Given the description of an element on the screen output the (x, y) to click on. 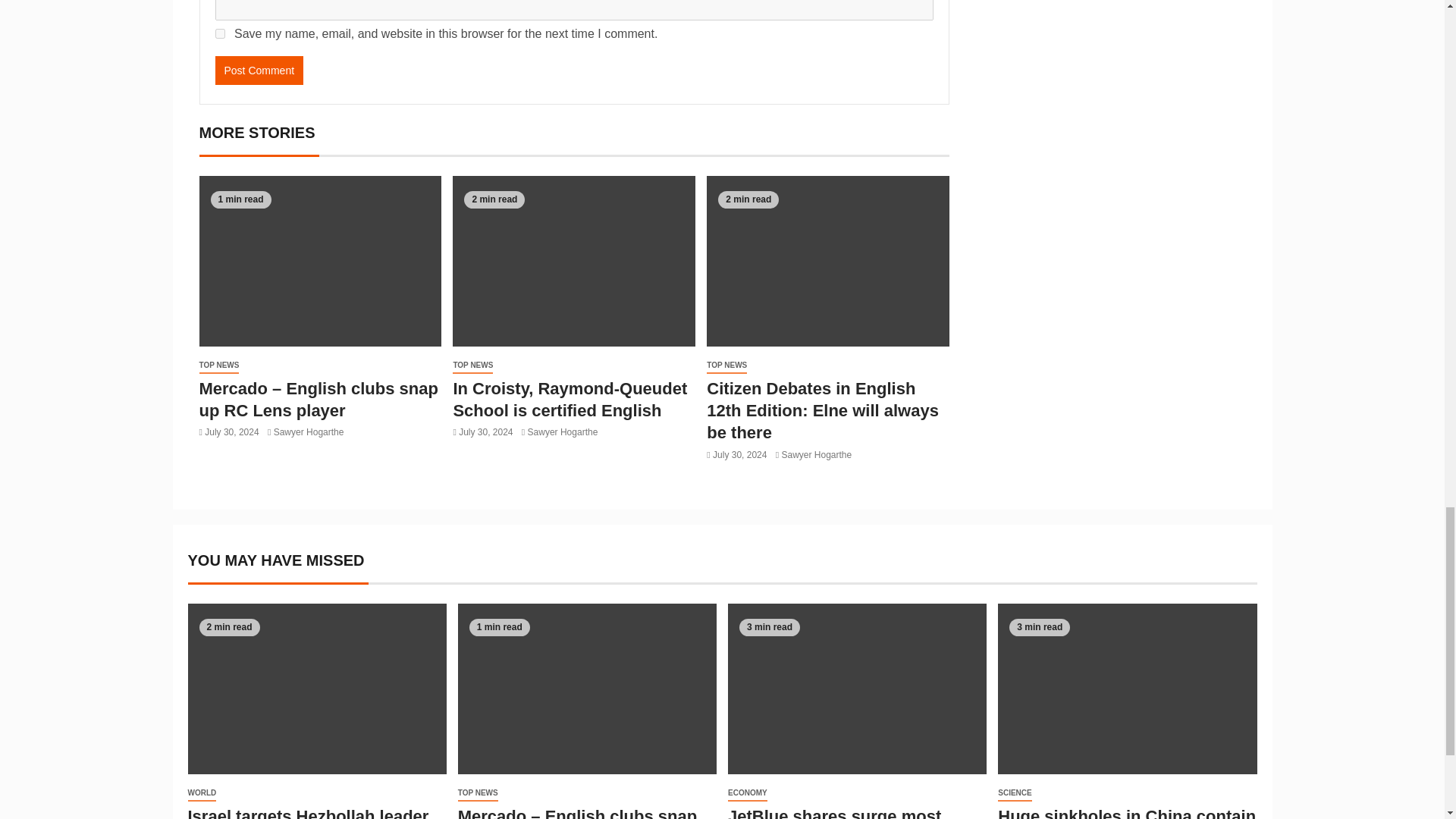
TOP NEWS (472, 365)
TOP NEWS (726, 365)
Post Comment (259, 70)
Post Comment (259, 70)
yes (220, 33)
Sawyer Hogarthe (562, 431)
Sawyer Hogarthe (308, 431)
TOP NEWS (218, 365)
In Croisty, Raymond-Queudet School is certified English (569, 399)
